Given the description of an element on the screen output the (x, y) to click on. 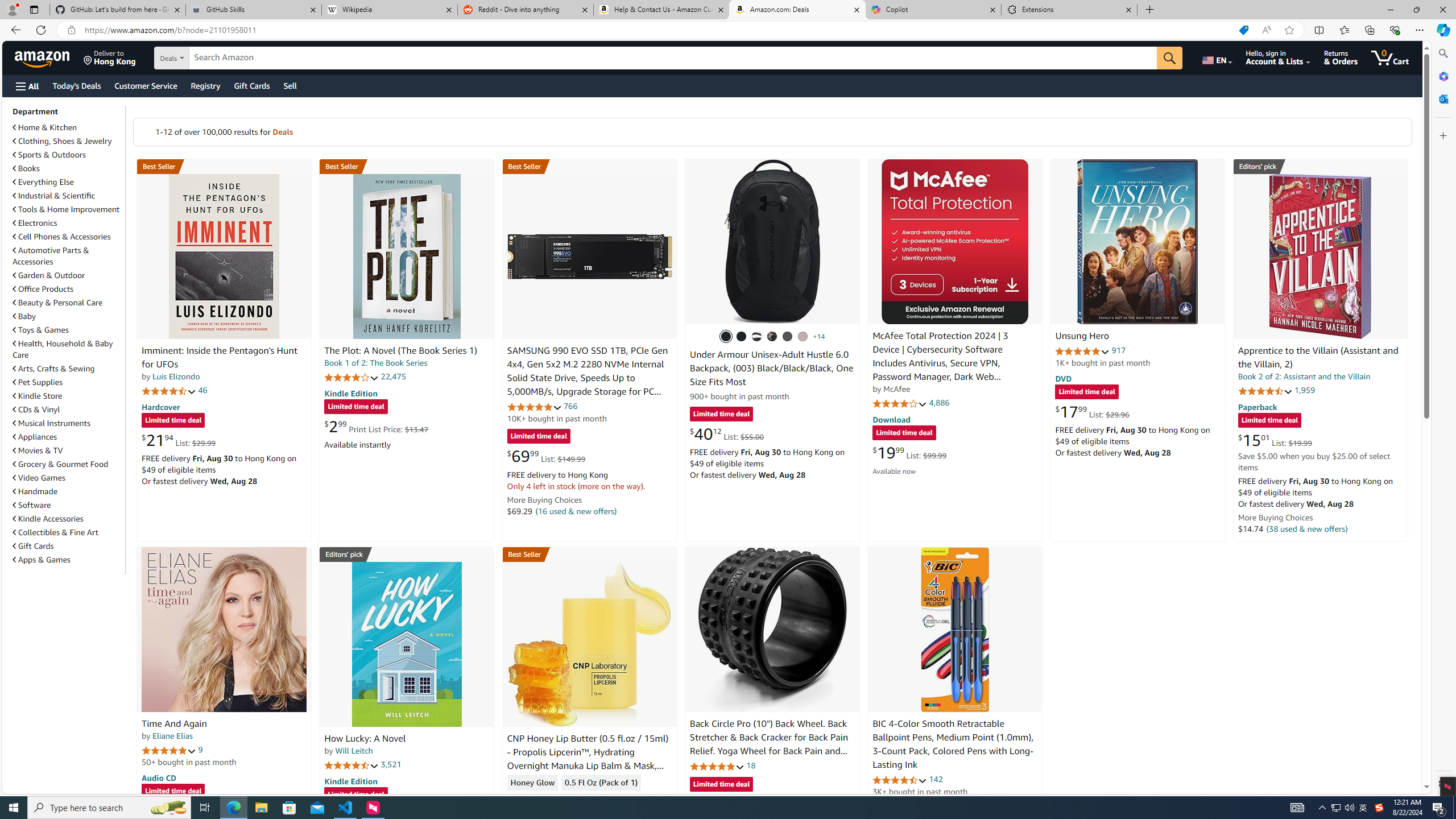
Side bar (1443, 418)
Microsoft 365 (1442, 76)
$15.01 List: $19.99 (1274, 439)
How Lucky: A Novel (405, 644)
Best Seller in Unexplained Mysteries (223, 165)
4.8 out of 5 stars (716, 766)
Collectibles & Fine Art (56, 532)
Collectibles & Fine Art (67, 532)
Search (1442, 53)
DVD (1063, 378)
Garden & Outdoor (67, 274)
Will Leitch (353, 750)
